Given the description of an element on the screen output the (x, y) to click on. 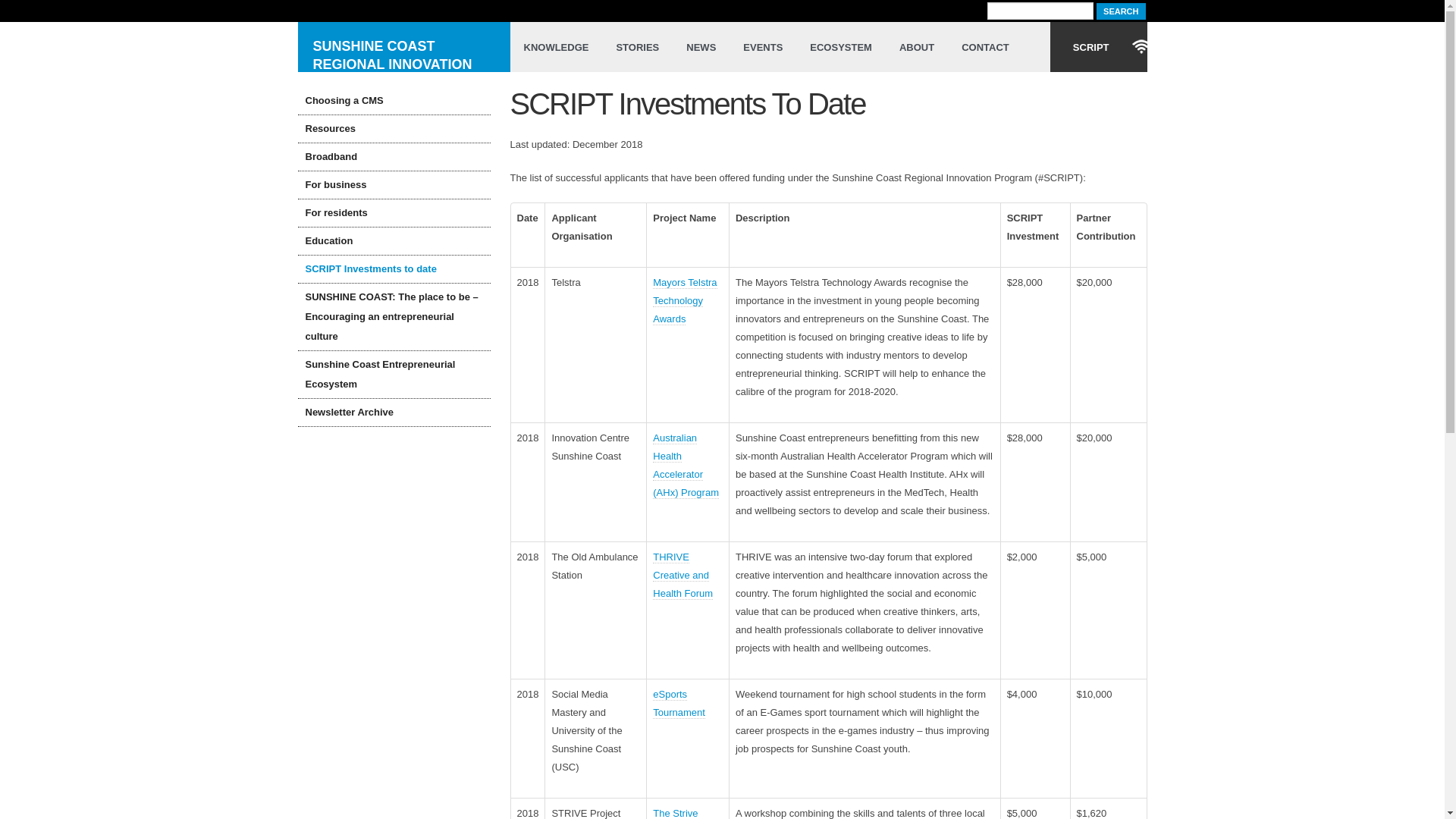
ABOUT Element type: text (916, 46)
SCRIPT Element type: text (1098, 46)
Newsletter Archive Element type: text (393, 412)
eSports Tournament Element type: text (678, 703)
NEWS Element type: text (700, 46)
Resources Element type: text (393, 128)
For business Element type: text (393, 184)
Search Element type: text (1120, 11)
ECOSYSTEM Element type: text (840, 46)
Choosing a CMS Element type: text (393, 100)
SUNSHINE COAST REGIONAL INNOVATION PROGRAM Element type: text (403, 46)
Enter the terms you wish to search for. Element type: hover (1040, 10)
EVENTS Element type: text (762, 46)
STORIES Element type: text (637, 46)
CONTACT Element type: text (984, 46)
KNOWLEDGE Element type: text (555, 46)
THRIVE Creative and Health Forum Element type: text (682, 575)
For residents Element type: text (393, 212)
Australian Health Accelerator (AHx) Program Element type: text (685, 465)
Mayors Telstra Technology Awards Element type: text (684, 300)
SCRIPT Investments to date Element type: text (393, 268)
Education Element type: text (393, 240)
Broadband Element type: text (393, 156)
Sunshine Coast Entrepreneurial Ecosystem Element type: text (393, 374)
